Given the description of an element on the screen output the (x, y) to click on. 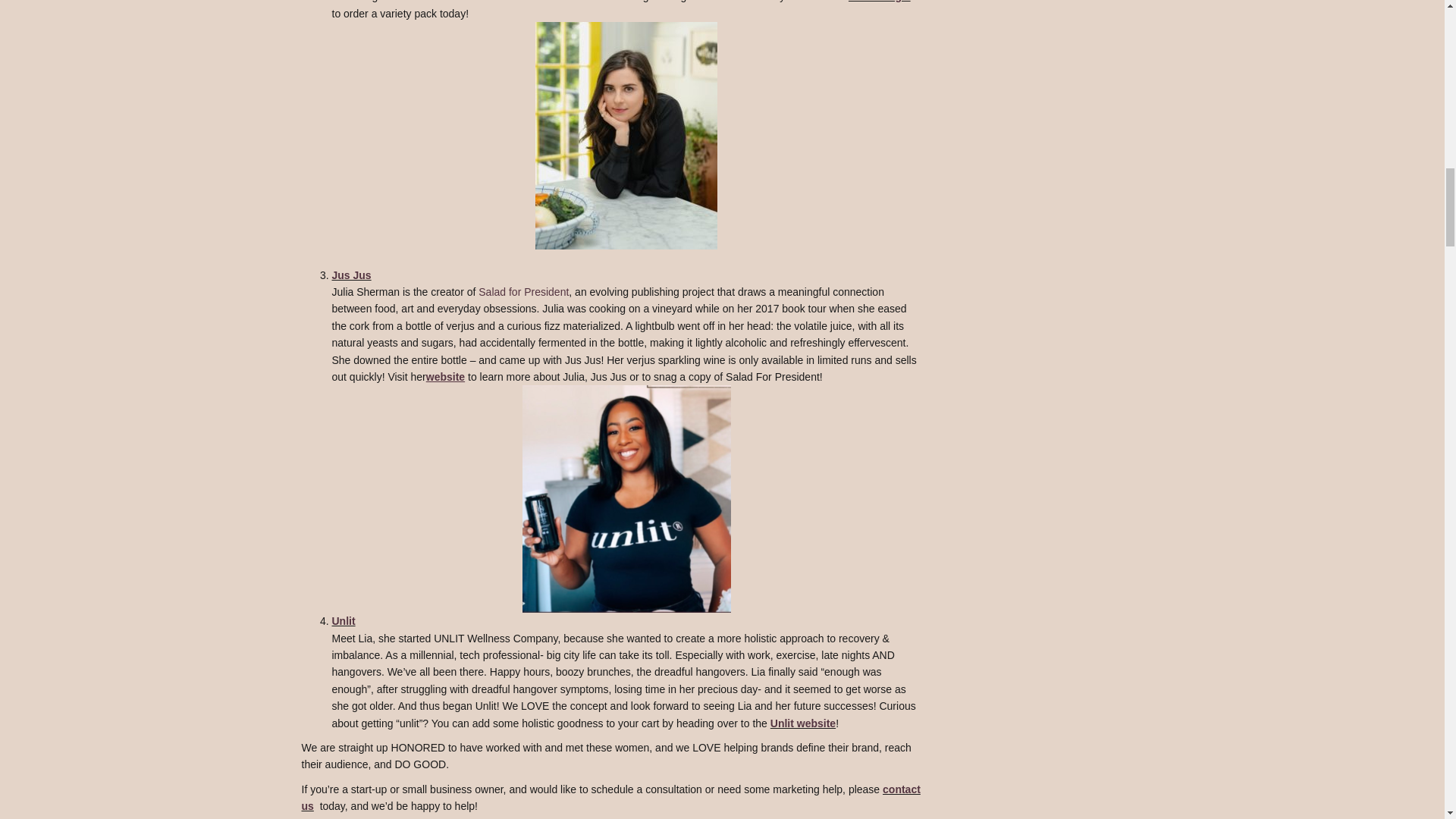
Salad for President (524, 291)
Unlit (343, 621)
Sweet Logic (879, 1)
contact us (610, 797)
Unlit website (802, 723)
website (446, 377)
Jus Jus (351, 275)
